Given the description of an element on the screen output the (x, y) to click on. 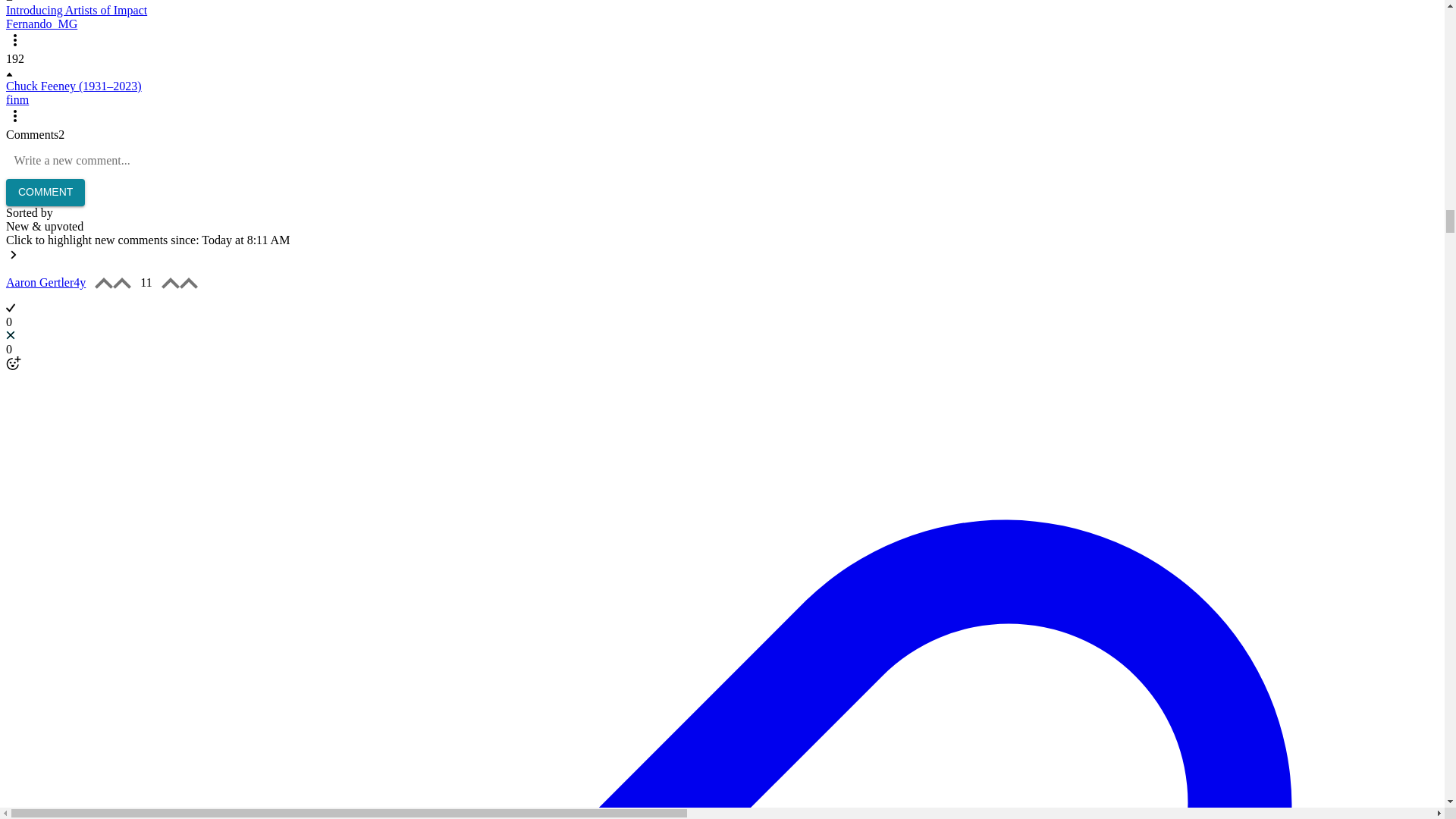
4y (79, 282)
Aaron Gertler (721, 294)
Introducing Artists of Impact (76, 10)
COMMENT (44, 192)
Today at 8:11 AM (245, 239)
finm (17, 99)
